Given the description of an element on the screen output the (x, y) to click on. 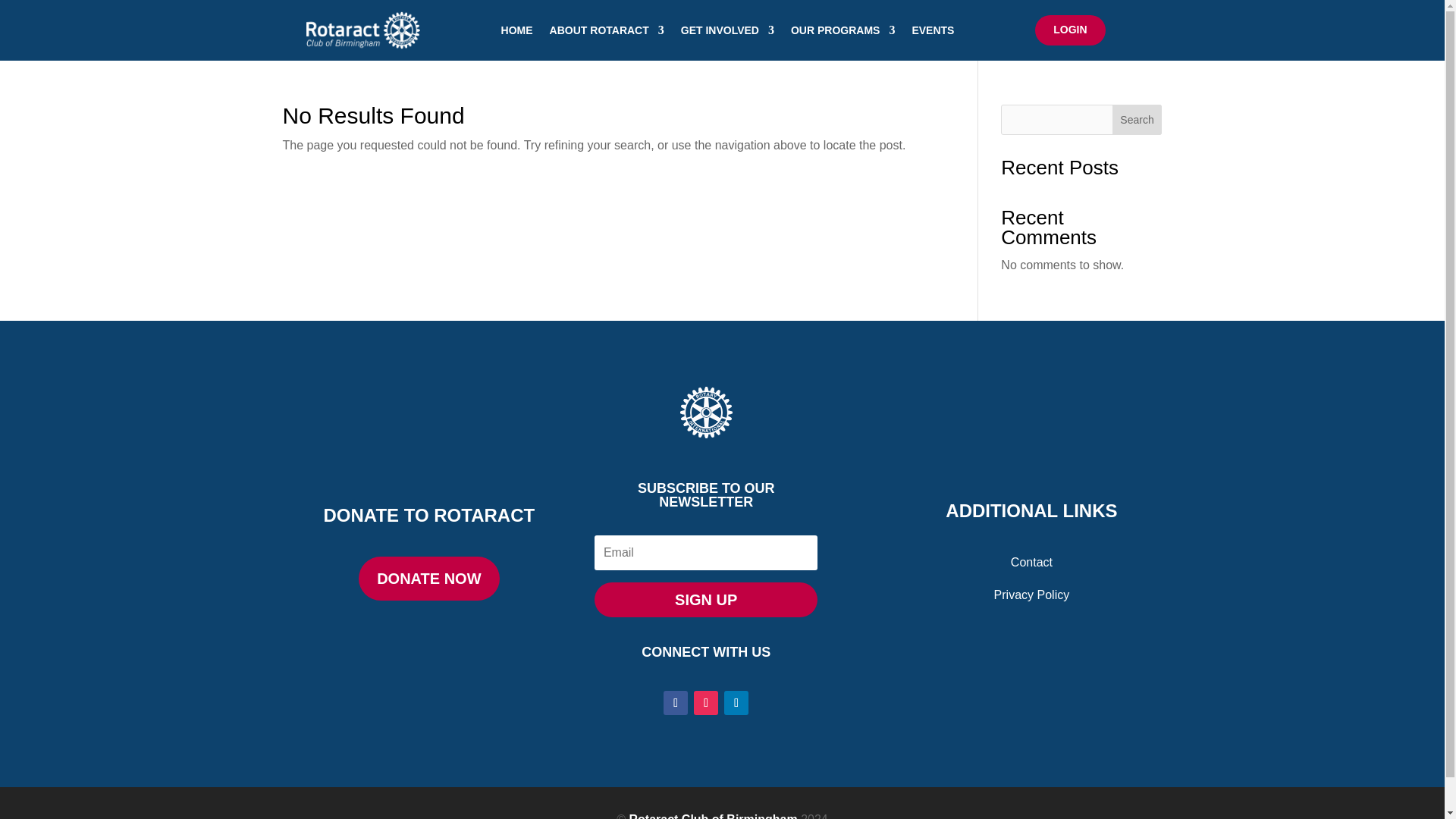
rotary-icon (705, 412)
Follow on Facebook (675, 702)
OUR PROGRAMS (842, 29)
LOGIN (1070, 30)
GET INVOLVED (727, 29)
ABOUT ROTARACT (606, 29)
Follow on LinkedIn (735, 702)
Follow on Instagram (705, 702)
